Given the description of an element on the screen output the (x, y) to click on. 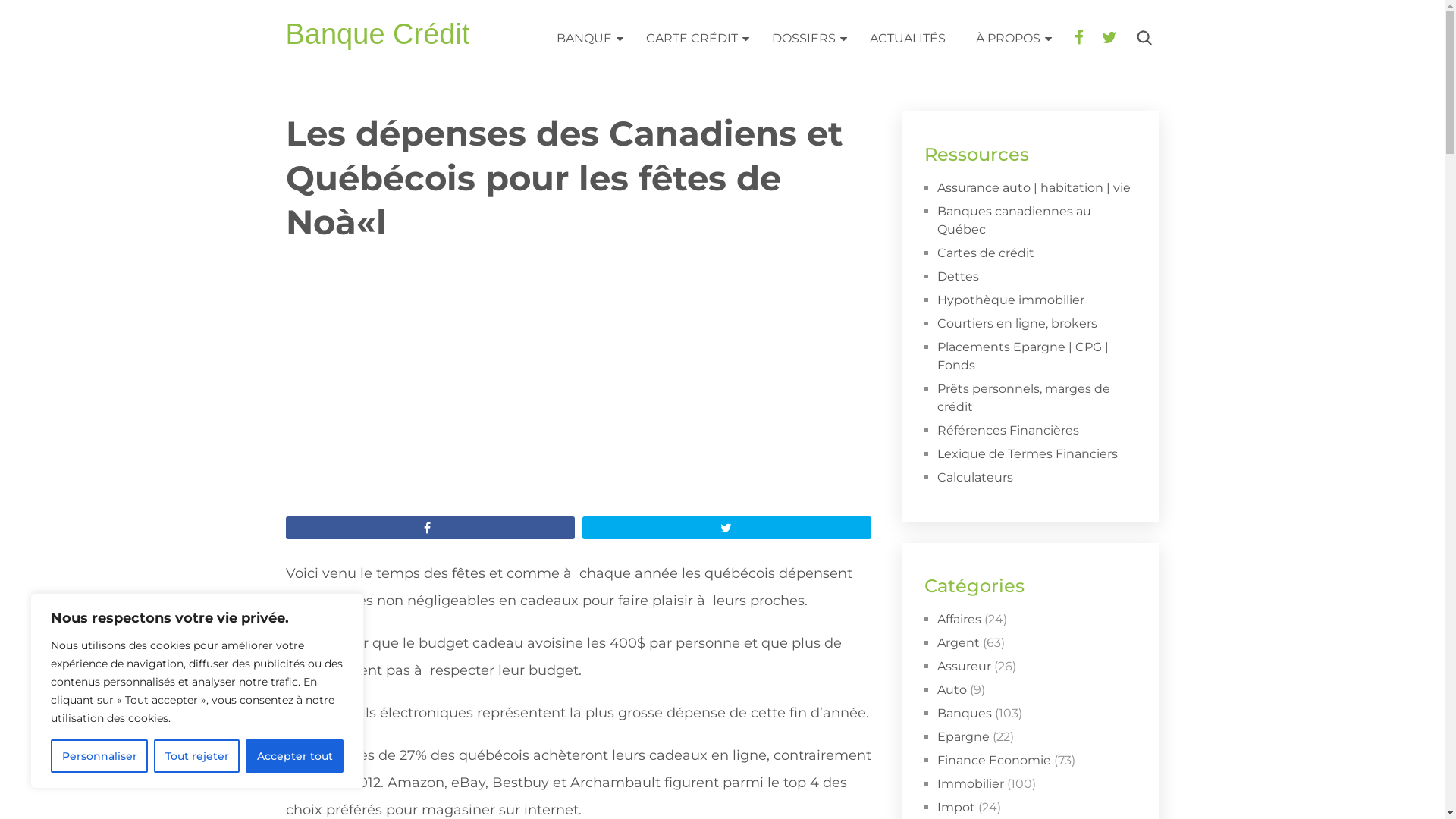
Advertisement Element type: hover (577, 402)
Auto Element type: text (951, 689)
Dettes Element type: text (958, 276)
Finance Economie Element type: text (994, 760)
Vincent Element type: text (321, 267)
Immobilier Element type: text (970, 783)
Facebook Element type: hover (1077, 37)
Epargne Element type: text (963, 736)
Assurance auto | habitation | vie Element type: text (1033, 187)
Argent Element type: text (539, 267)
Tout rejeter Element type: text (196, 755)
Impot Element type: text (956, 807)
DOSSIERS Element type: text (805, 38)
Assureur Element type: text (964, 665)
Un commentaire Element type: text (644, 267)
Personnaliser Element type: text (98, 755)
Accepter tout Element type: text (294, 755)
BANQUE Element type: text (585, 38)
Courtiers en ligne, brokers Element type: text (1017, 323)
Calculateurs Element type: text (975, 477)
Twitter Element type: hover (1108, 37)
Affaires Element type: text (959, 618)
Banques Element type: text (964, 713)
Placements Epargne | CPG | Fonds Element type: text (1022, 355)
Lexique de Termes Financiers Element type: text (1027, 453)
Argent Element type: text (958, 642)
